Given the description of an element on the screen output the (x, y) to click on. 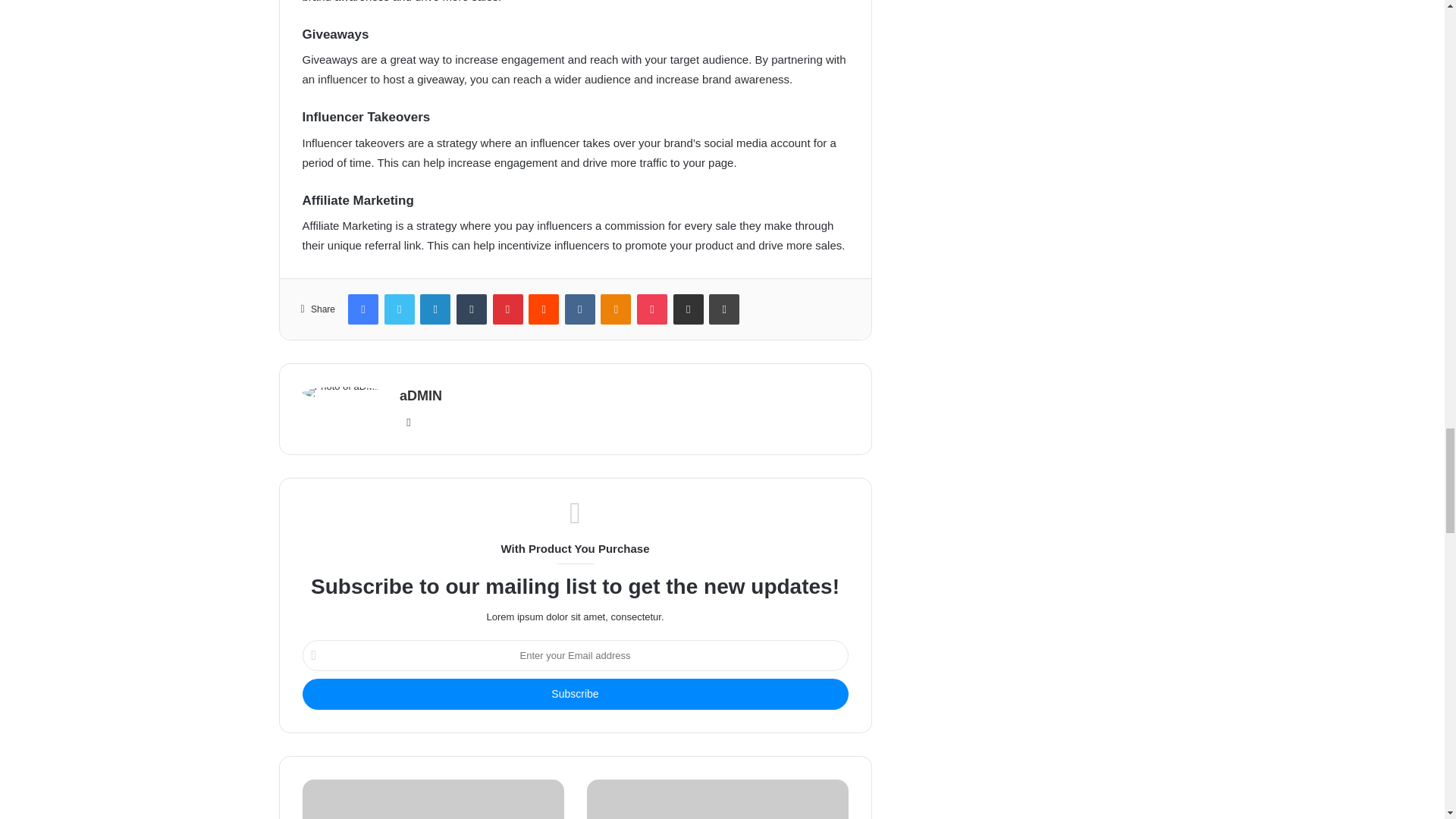
LinkedIn (434, 309)
Share via Email (687, 309)
Tumblr (471, 309)
aDMIN (420, 395)
Print (724, 309)
Reddit (543, 309)
Reddit (543, 309)
Website (407, 422)
Twitter (399, 309)
VKontakte (579, 309)
VKontakte (579, 309)
Subscribe (574, 694)
Facebook (362, 309)
Tumblr (471, 309)
Facebook (362, 309)
